Given the description of an element on the screen output the (x, y) to click on. 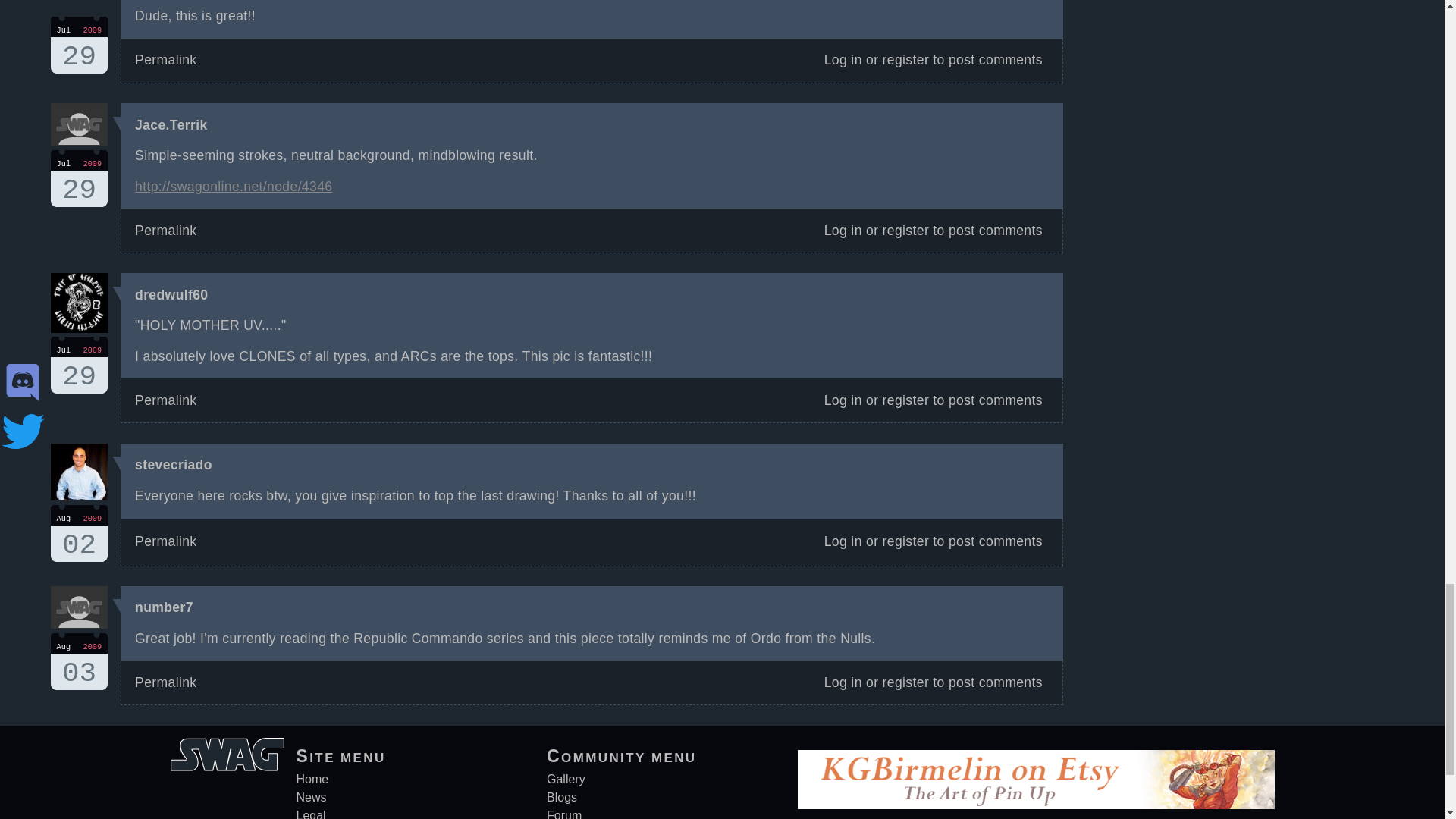
View user profile. (171, 294)
View user profile. (78, 364)
View user profile. (171, 124)
View user profile. (164, 607)
